Given the description of an element on the screen output the (x, y) to click on. 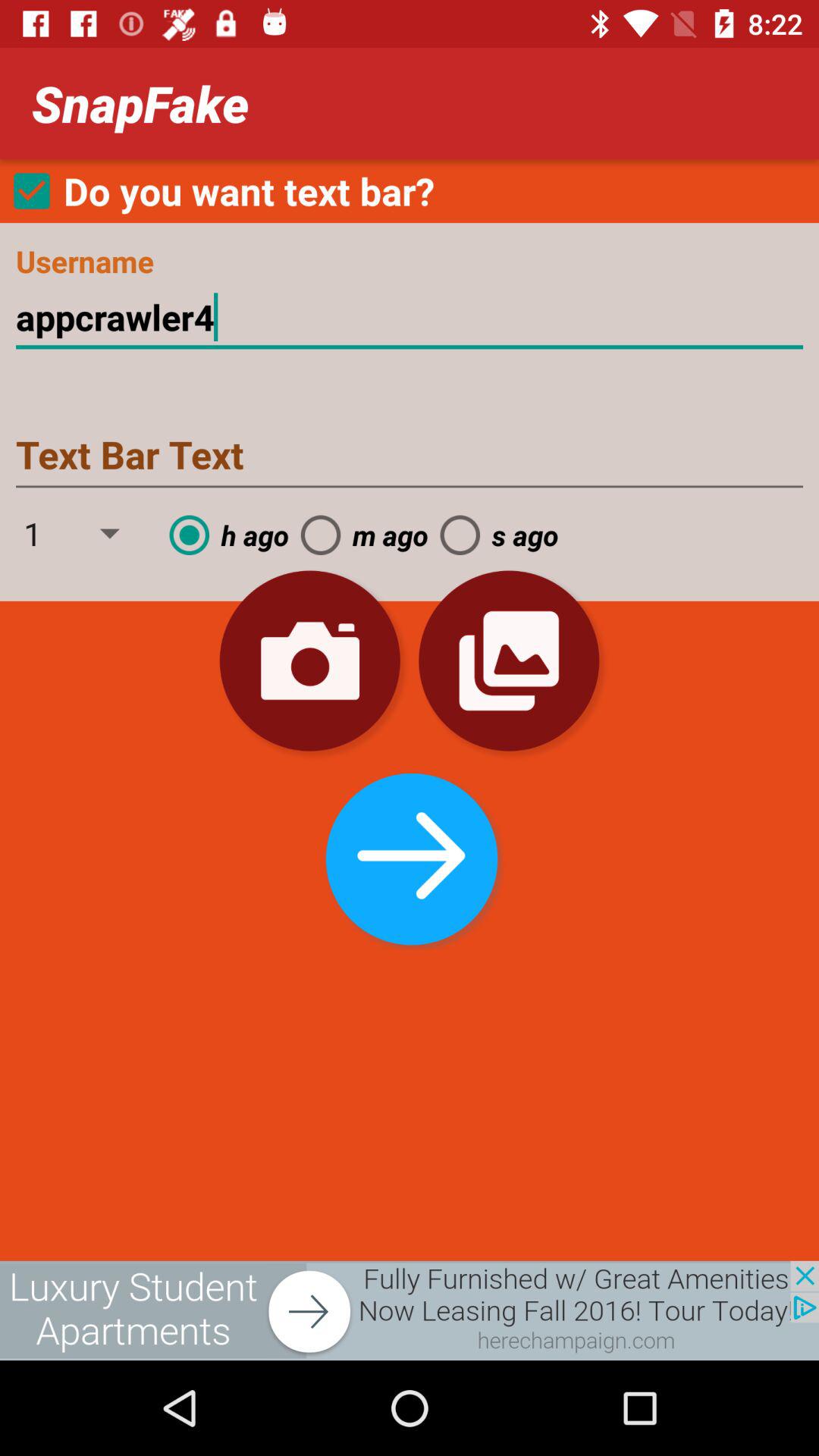
go to the next (408, 854)
